Given the description of an element on the screen output the (x, y) to click on. 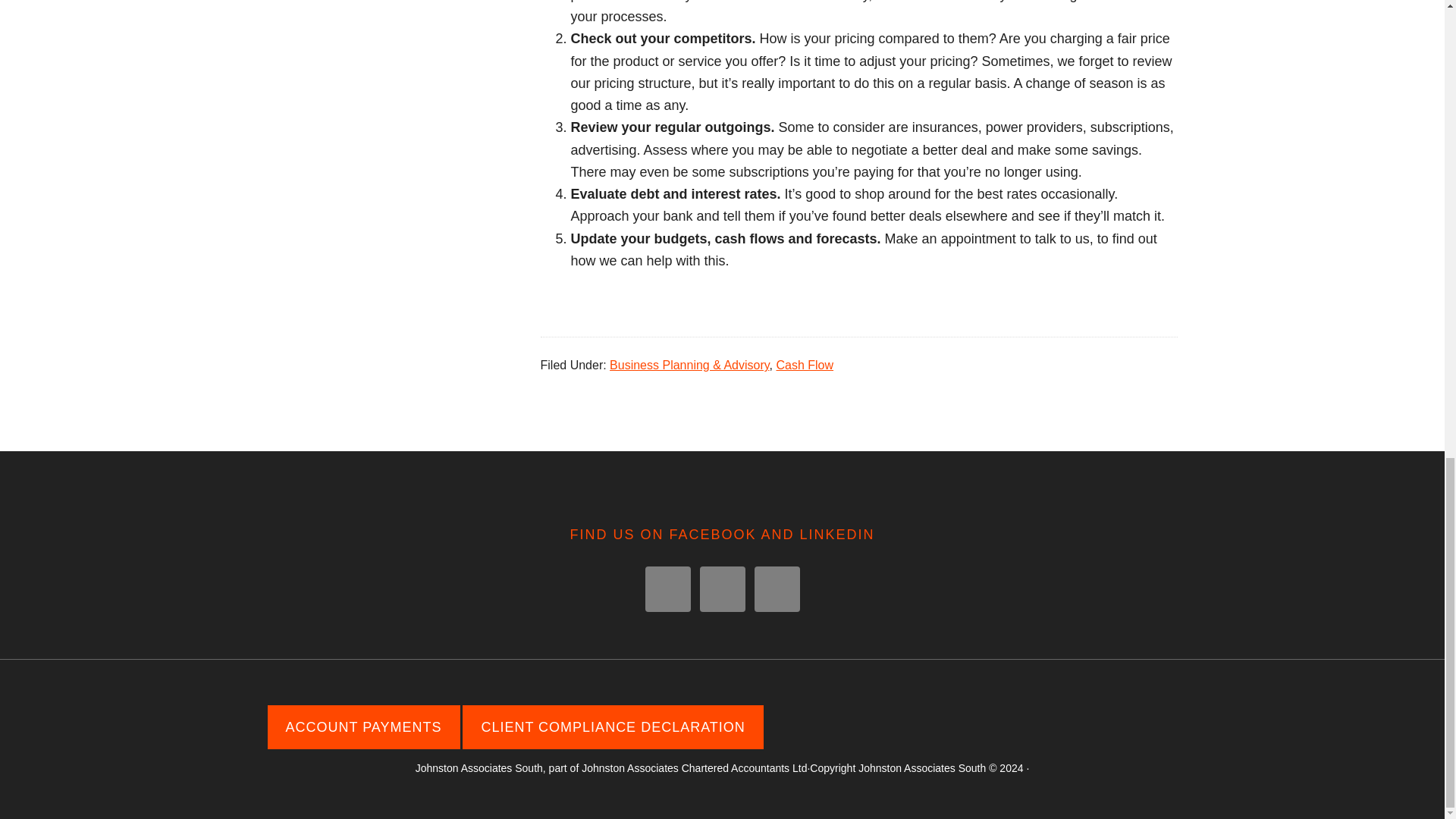
CLIENT COMPLIANCE DECLARATION (612, 727)
ACCOUNT PAYMENTS (363, 727)
Cash Flow (804, 364)
